Given the description of an element on the screen output the (x, y) to click on. 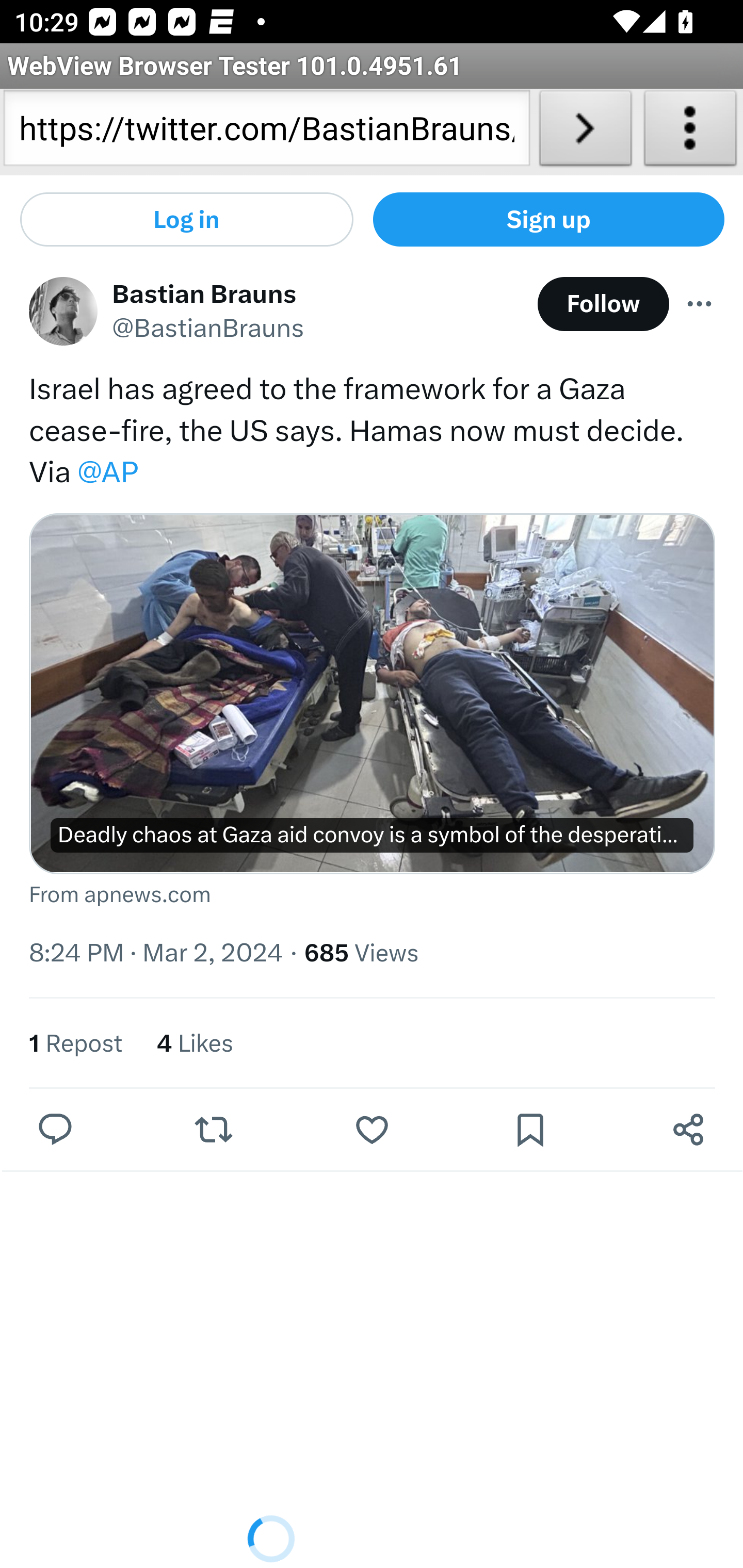
Load URL (585, 132)
About WebView (690, 132)
BastianBrauns (63, 312)
Bastian Brauns (204, 293)
Follow @BastianBrauns (602, 304)
More (699, 304)
@BastianBrauns (208, 330)
@AP (106, 473)
From apnews.com From  apnews.com (372, 896)
8:24 PM · Mar 2, 2024 (155, 953)
1 Repost 1   Repost (75, 1044)
4 Likes 4   Likes (194, 1044)
Reply (55, 1129)
Repost (212, 1129)
Like (371, 1129)
0 Bookmarks. Bookmark (534, 1129)
Share post (688, 1129)
